Given the description of an element on the screen output the (x, y) to click on. 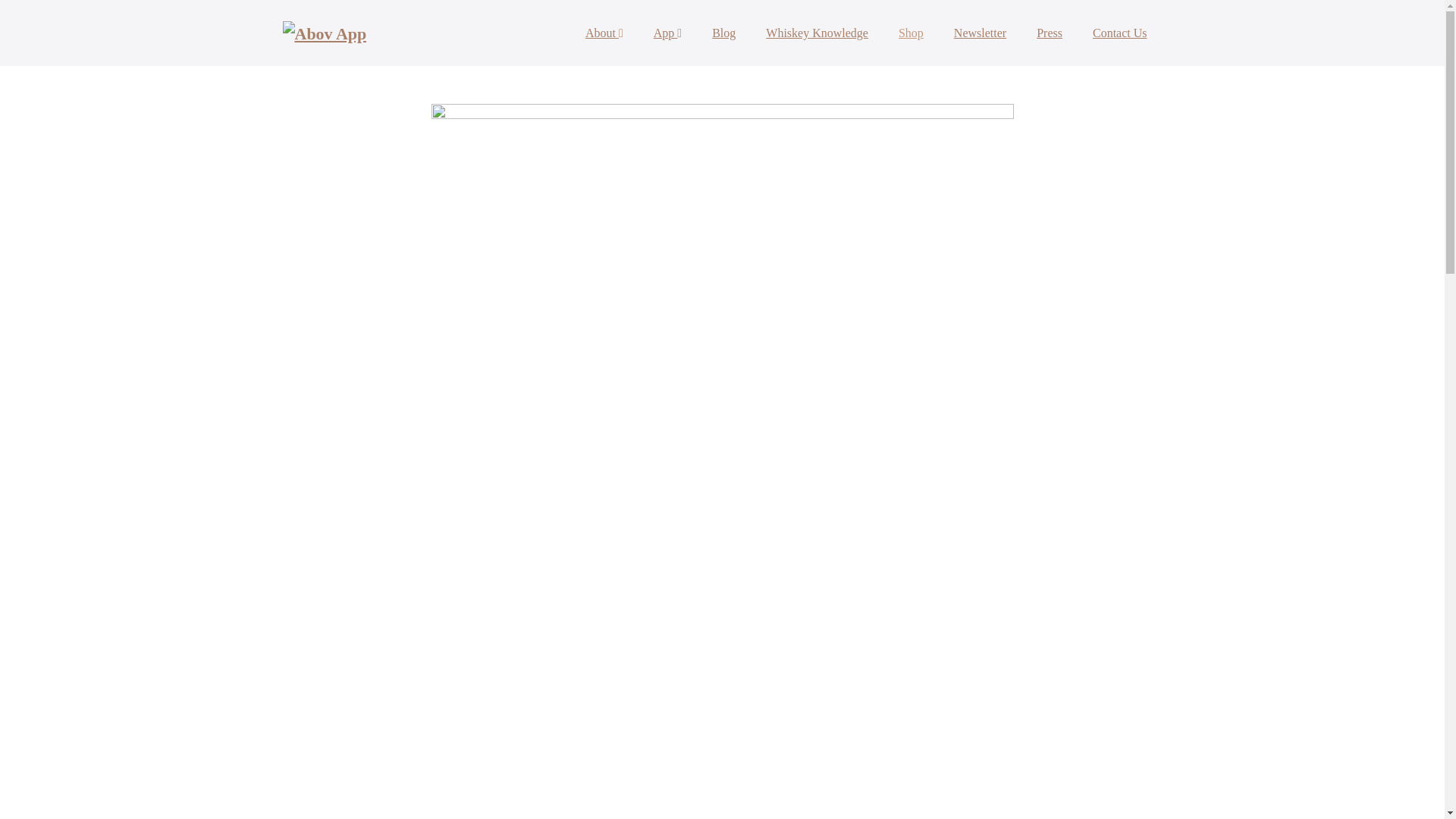
Contact Us (1119, 32)
Newsletter (980, 32)
Press (1049, 32)
Shop (911, 32)
Whiskey Knowledge (817, 32)
App (668, 32)
About (604, 32)
Blog (724, 32)
Abov App (324, 33)
